Given the description of an element on the screen output the (x, y) to click on. 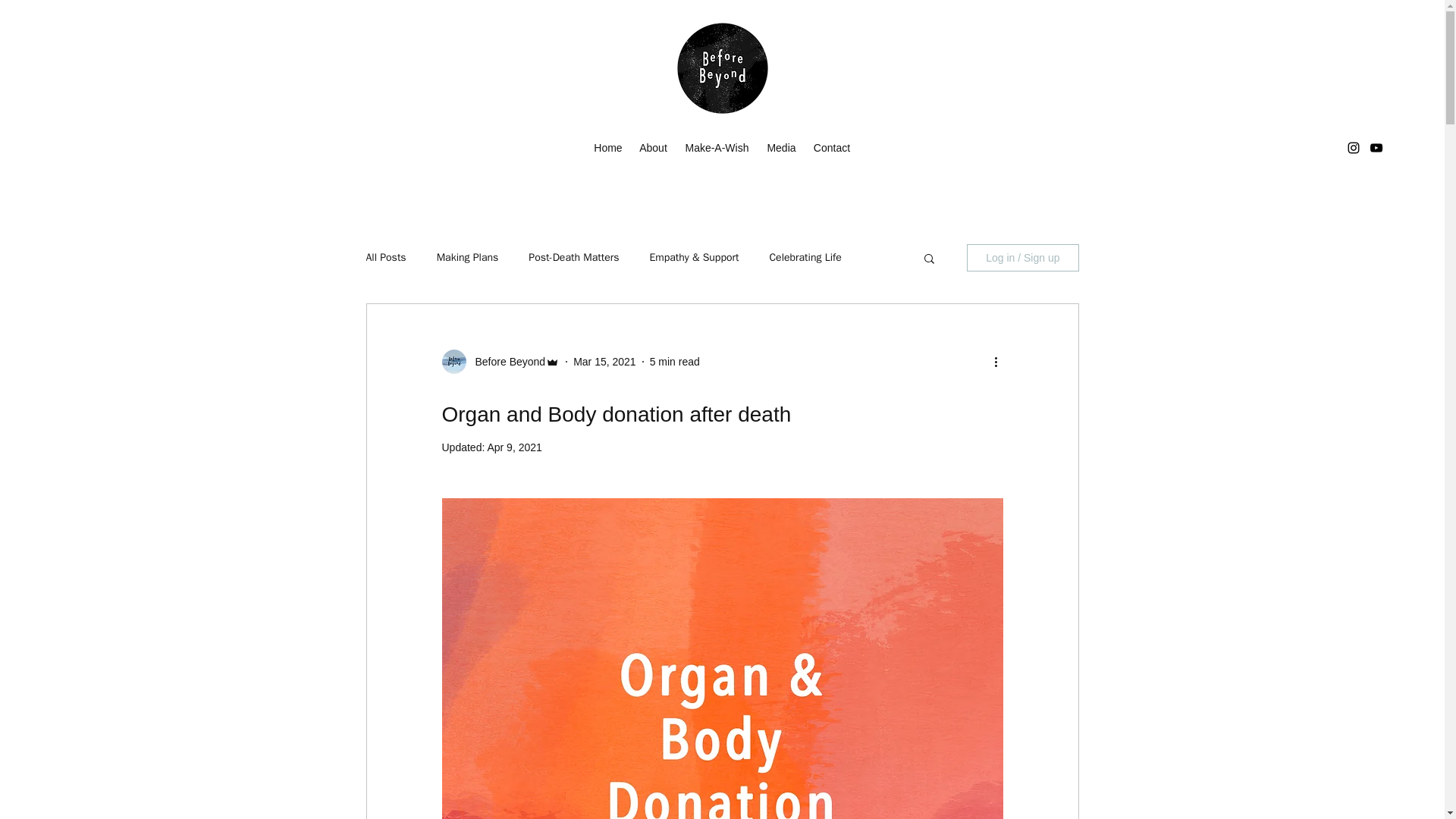
Media (781, 147)
Mar 15, 2021 (604, 360)
About (652, 147)
Contact (832, 147)
Before Beyond (504, 360)
Make-A-Wish (716, 147)
Making Plans (467, 257)
Celebrating Life (804, 257)
Home (607, 147)
5 min read (674, 360)
Apr 9, 2021 (513, 447)
Post-Death Matters (573, 257)
All Posts (385, 257)
